Given the description of an element on the screen output the (x, y) to click on. 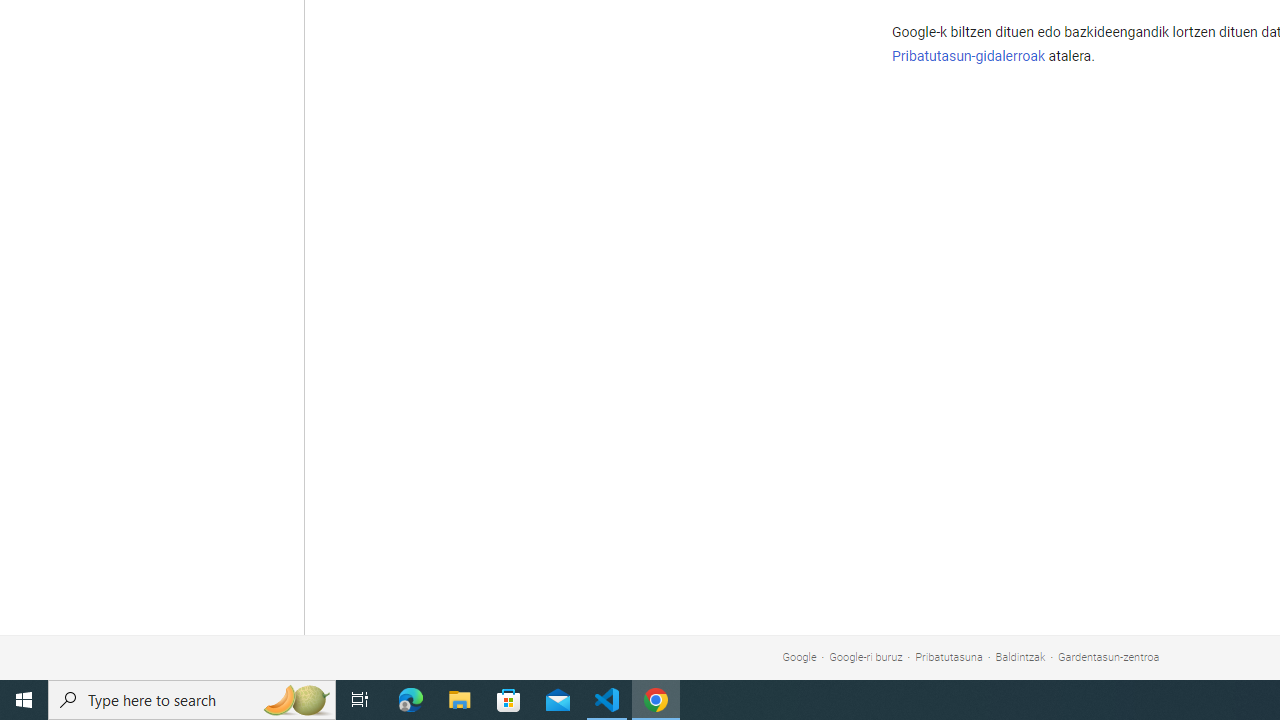
Google (799, 656)
Google-ri buruz (865, 656)
Baldintzak (1019, 656)
Gardentasun-zentroa (1108, 656)
Pribatutasun-gidalerroak (968, 56)
Pribatutasuna (949, 656)
